Given the description of an element on the screen output the (x, y) to click on. 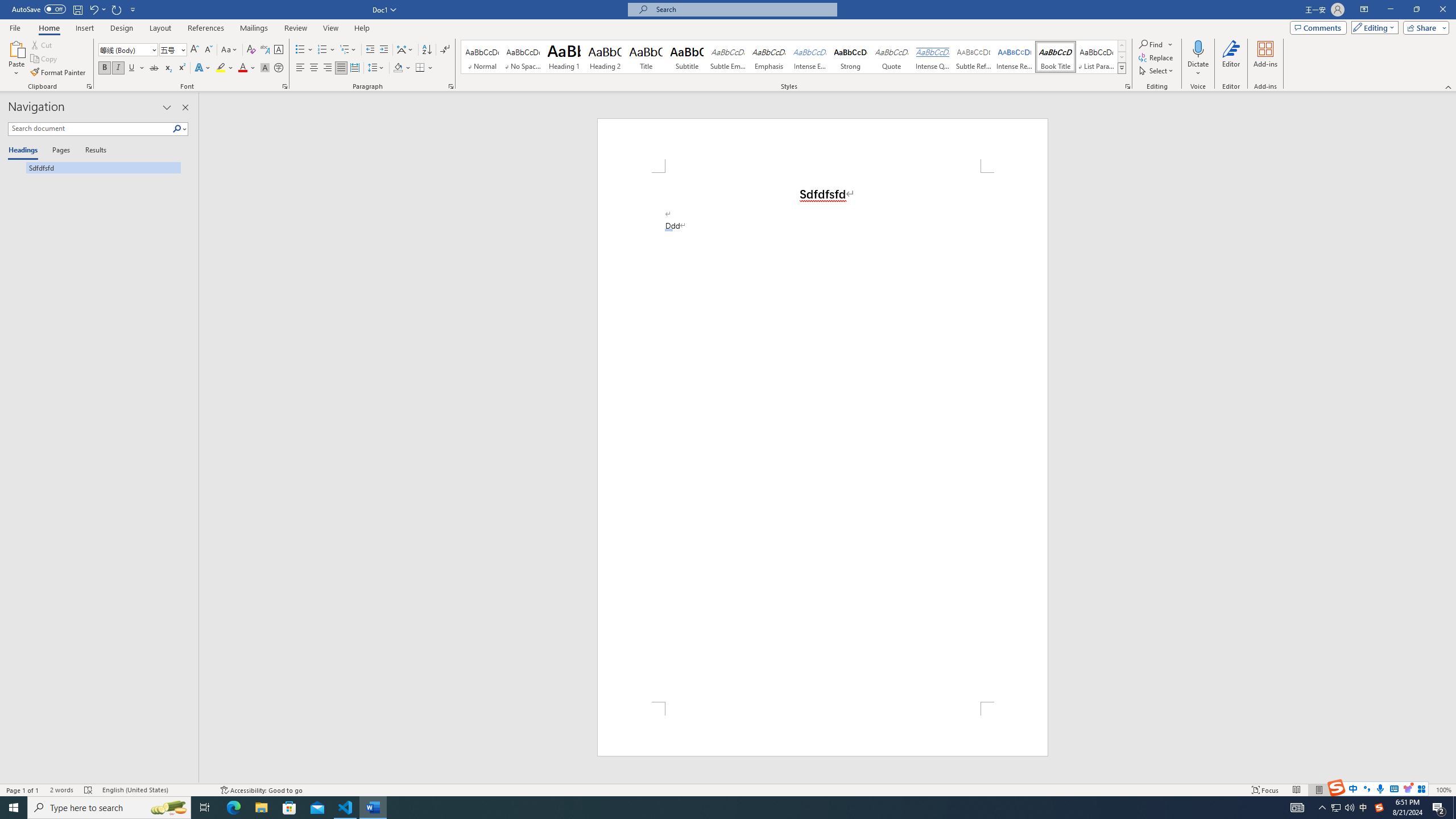
Search document (89, 128)
Align Right (327, 67)
Intense Reference (1014, 56)
Align Left (300, 67)
Quote (891, 56)
Text Highlight Color (224, 67)
Borders (424, 67)
Ribbon Display Options (1364, 9)
Strikethrough (154, 67)
Subtle Reference (973, 56)
Numbering (326, 49)
More Options (1197, 68)
Print Layout (1318, 790)
Zoom (1392, 790)
